Given the description of an element on the screen output the (x, y) to click on. 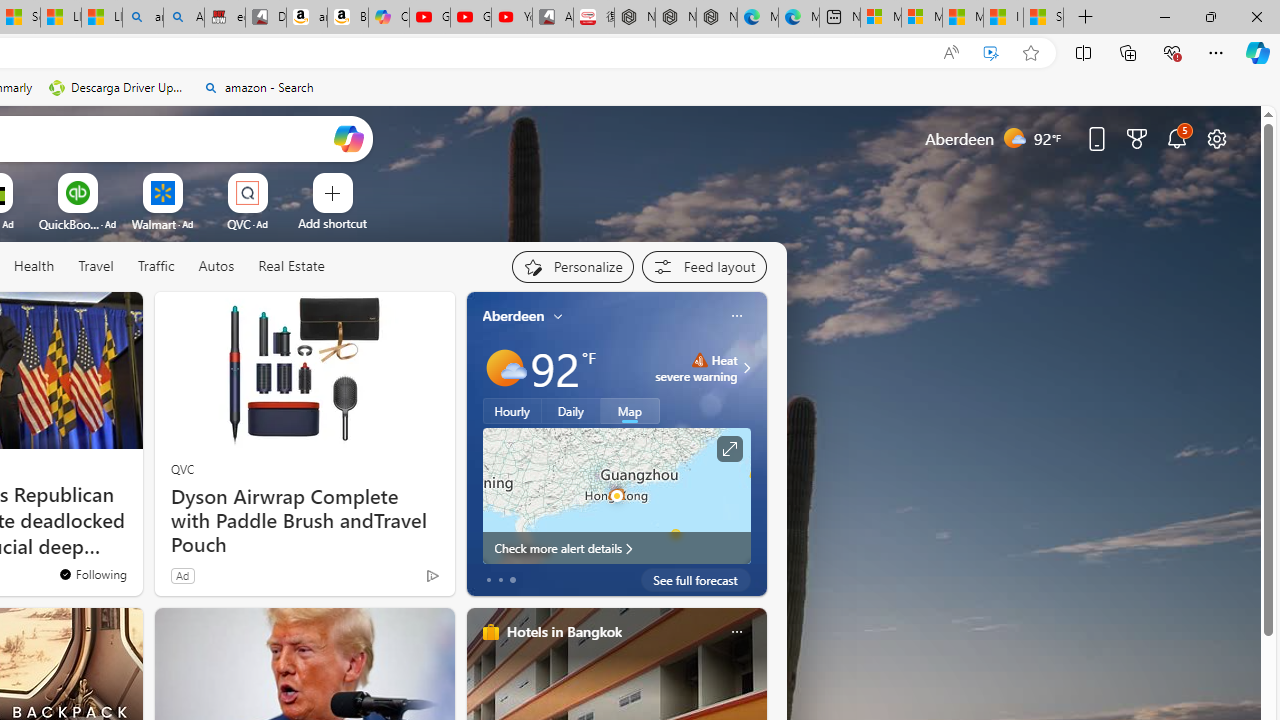
Feed settings (703, 266)
previous (476, 443)
Larger map  (616, 495)
I Gained 20 Pounds of Muscle in 30 Days! | Watch (1003, 17)
Hourly (511, 411)
Settings and more (Alt+F) (1215, 52)
Autos (216, 267)
Microsoft rewards (1137, 138)
Autos (215, 265)
Class: weather-arrow-glyph (746, 367)
next (756, 443)
New tab (840, 17)
